Given the description of an element on the screen output the (x, y) to click on. 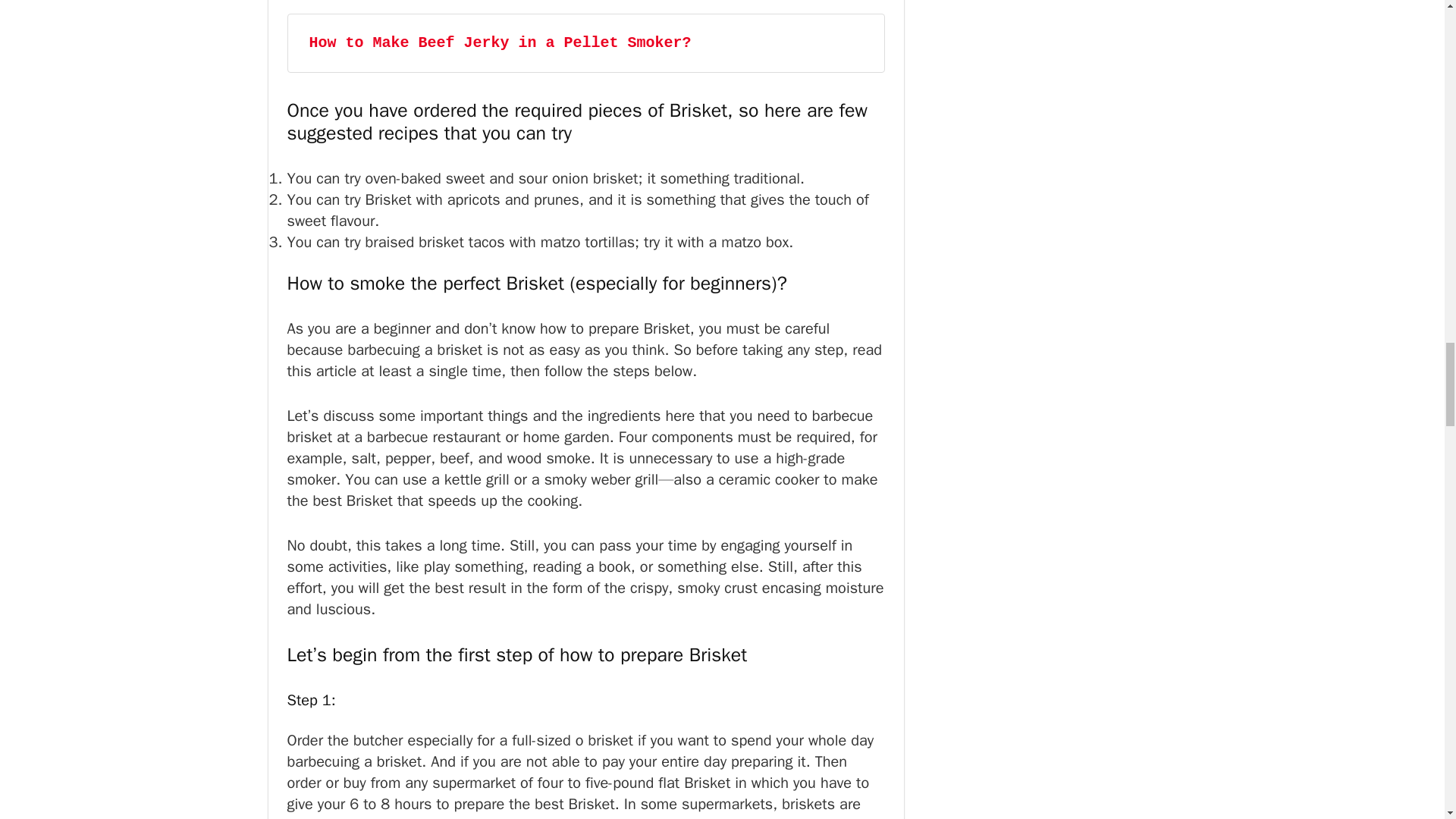
How to Make Beef Jerky in a Pellet Smoker? (499, 42)
